Given the description of an element on the screen output the (x, y) to click on. 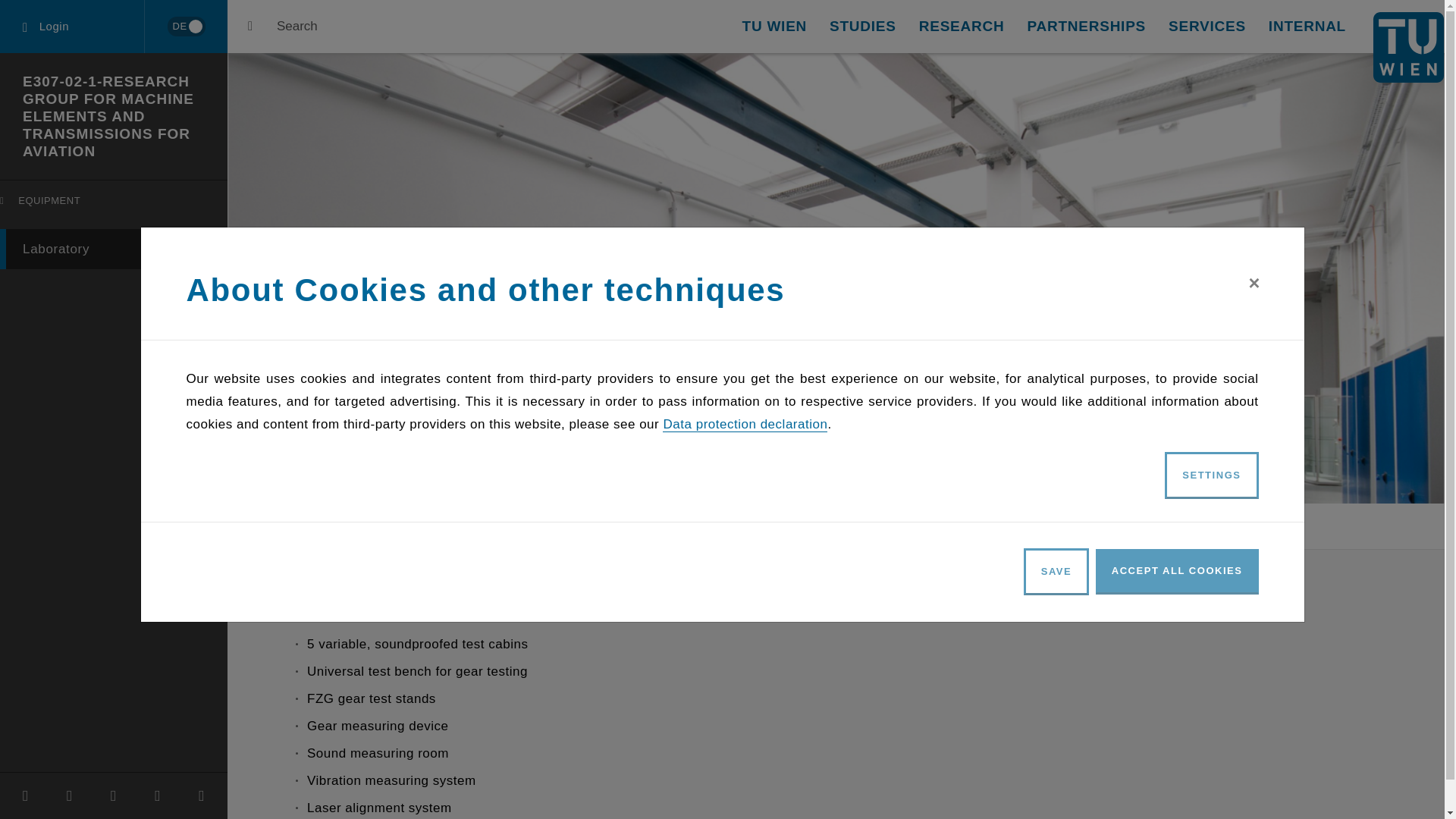
Search (282, 26)
TU Wien - homepage (1408, 47)
Login (72, 26)
STUDIES (862, 26)
DE (185, 26)
TU WIEN (774, 26)
Laboratory (117, 204)
Wechseln zu Deutsch (113, 249)
